Given the description of an element on the screen output the (x, y) to click on. 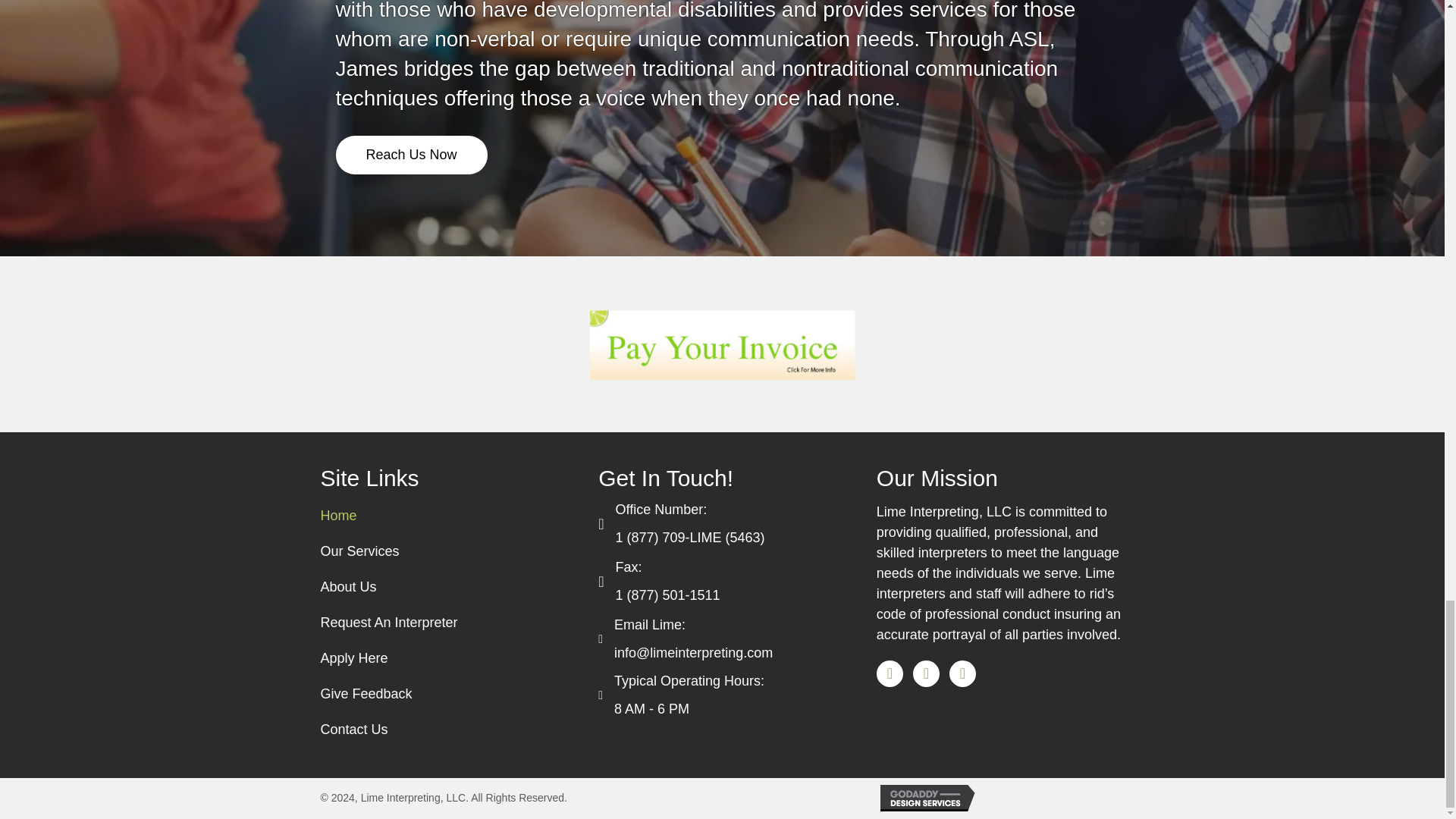
About Us (348, 587)
Home (338, 515)
Give Feedback (366, 693)
Our Services (359, 551)
Request An Interpreter (388, 622)
Contact Us (353, 729)
Reach Us Now (410, 154)
Apply Here (353, 658)
